Given the description of an element on the screen output the (x, y) to click on. 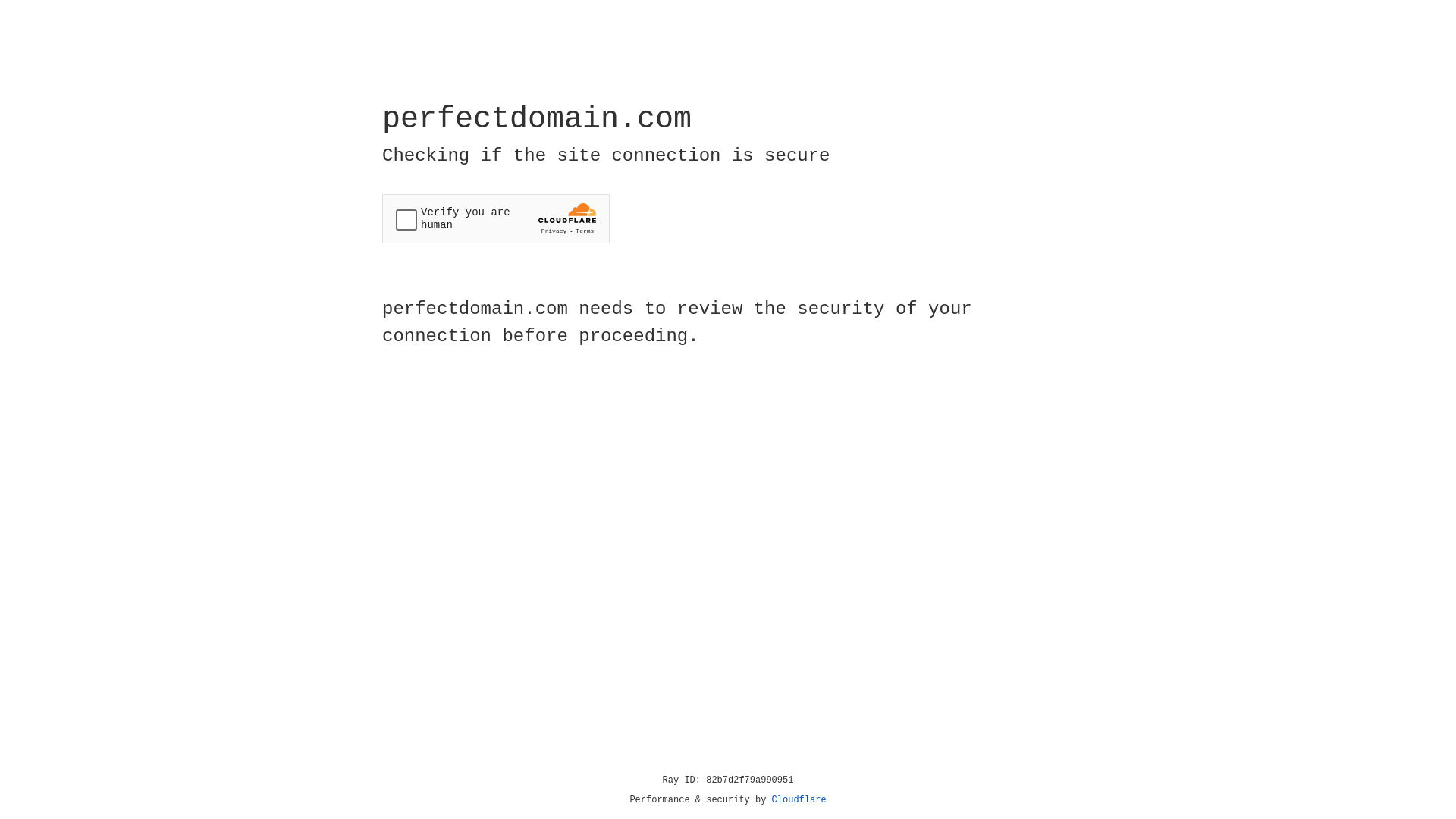
Cloudflare Element type: text (798, 799)
Widget containing a Cloudflare security challenge Element type: hover (495, 218)
